Given the description of an element on the screen output the (x, y) to click on. 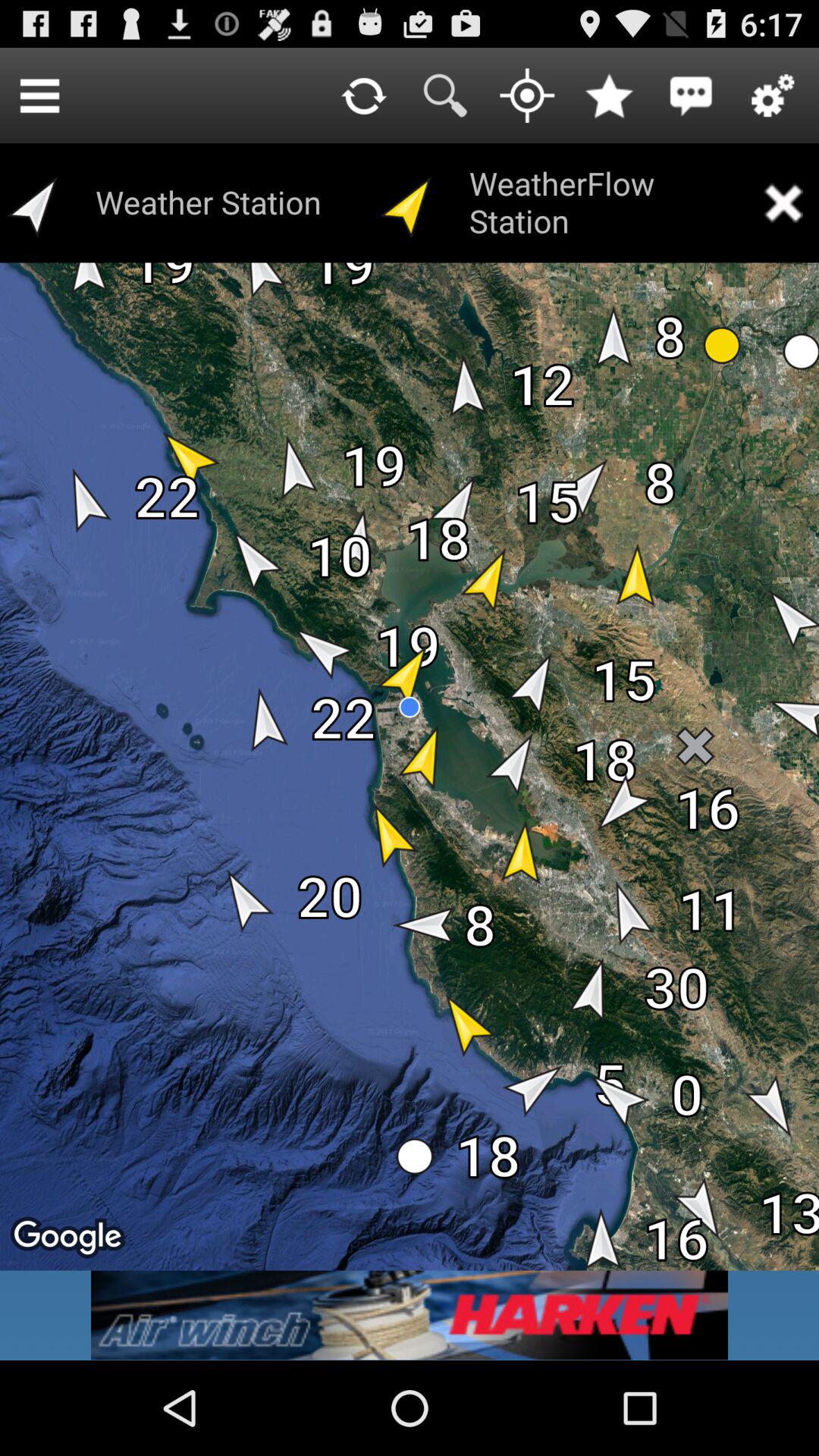
choose app to the right of weatherflow station (783, 202)
